Given the description of an element on the screen output the (x, y) to click on. 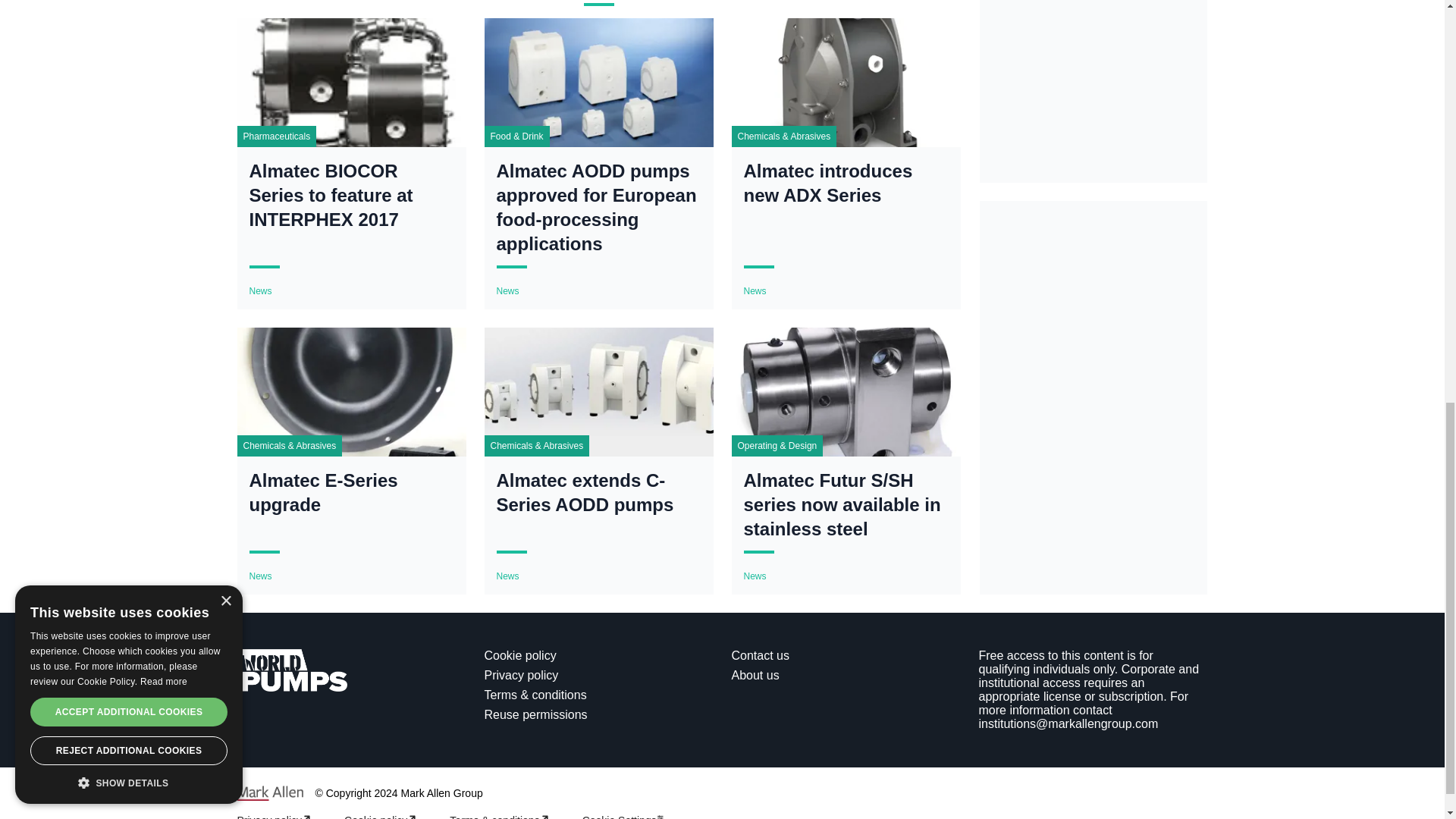
3rd party ad content (1093, 7)
3rd party ad content (1093, 313)
